Given the description of an element on the screen output the (x, y) to click on. 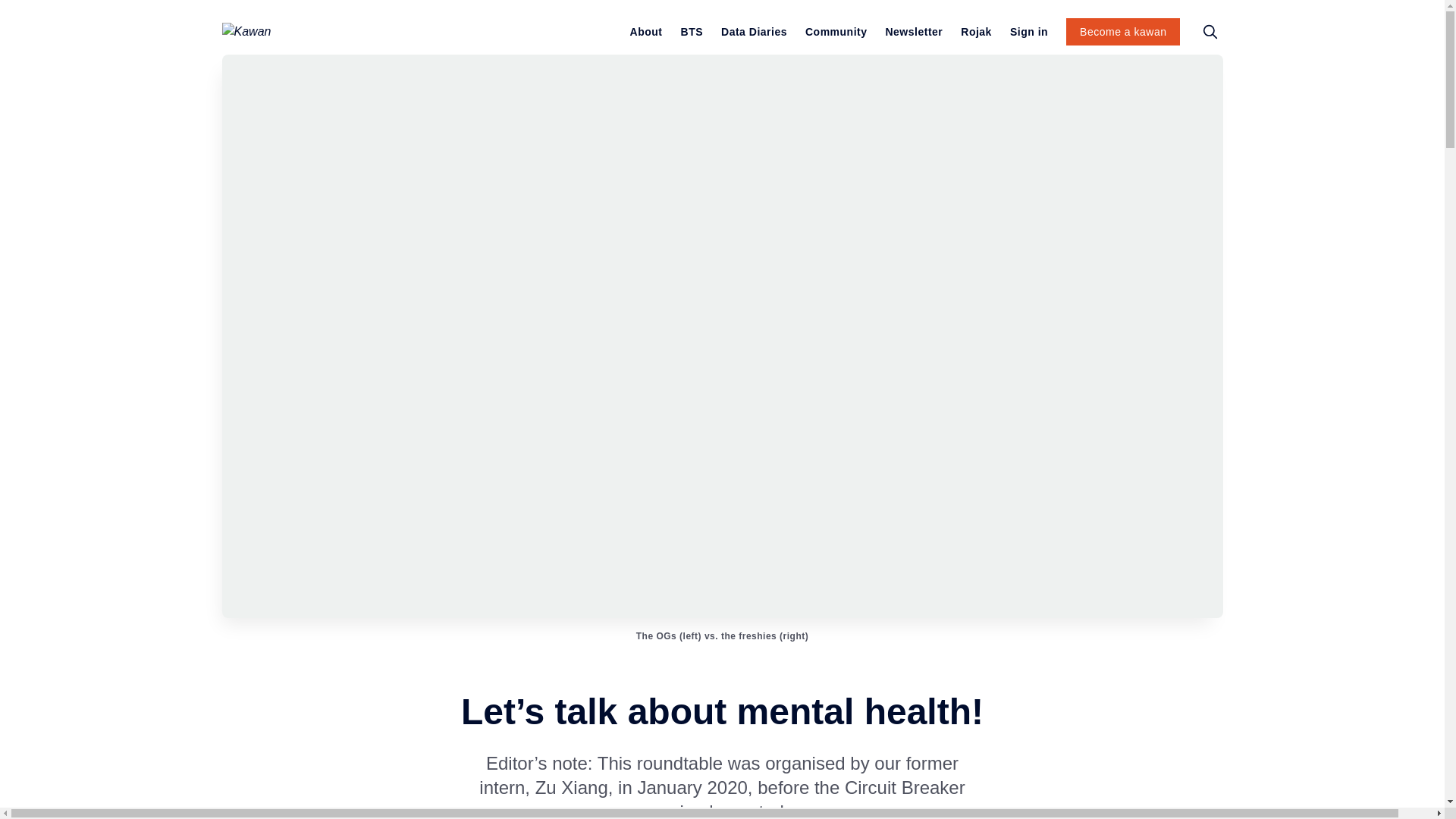
Become a kawan (1122, 31)
Community (836, 32)
Rojak (975, 32)
Newsletter (913, 32)
About (646, 32)
Sign in (1029, 32)
Data Diaries (753, 32)
BTS (692, 32)
